Given the description of an element on the screen output the (x, y) to click on. 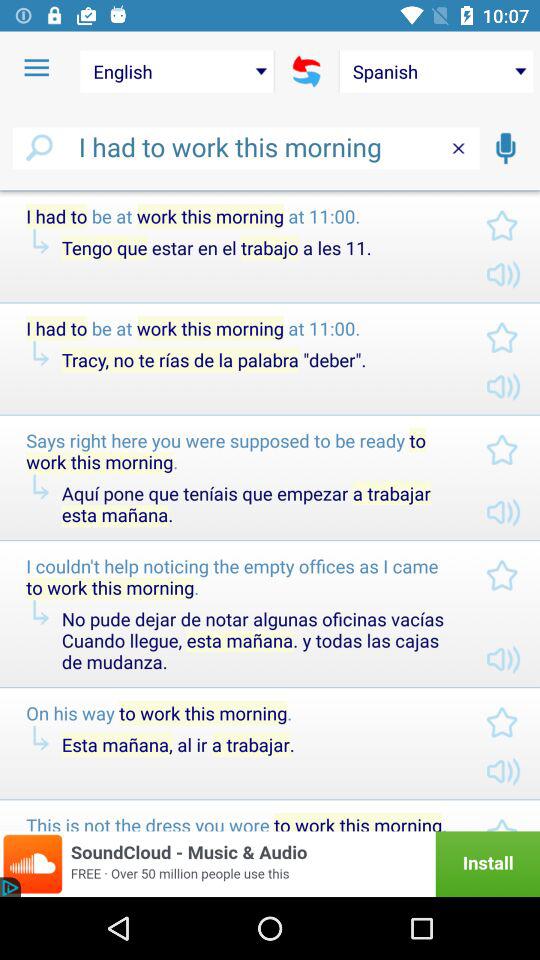
turn on the icon to the left of the spanish icon (306, 71)
